Given the description of an element on the screen output the (x, y) to click on. 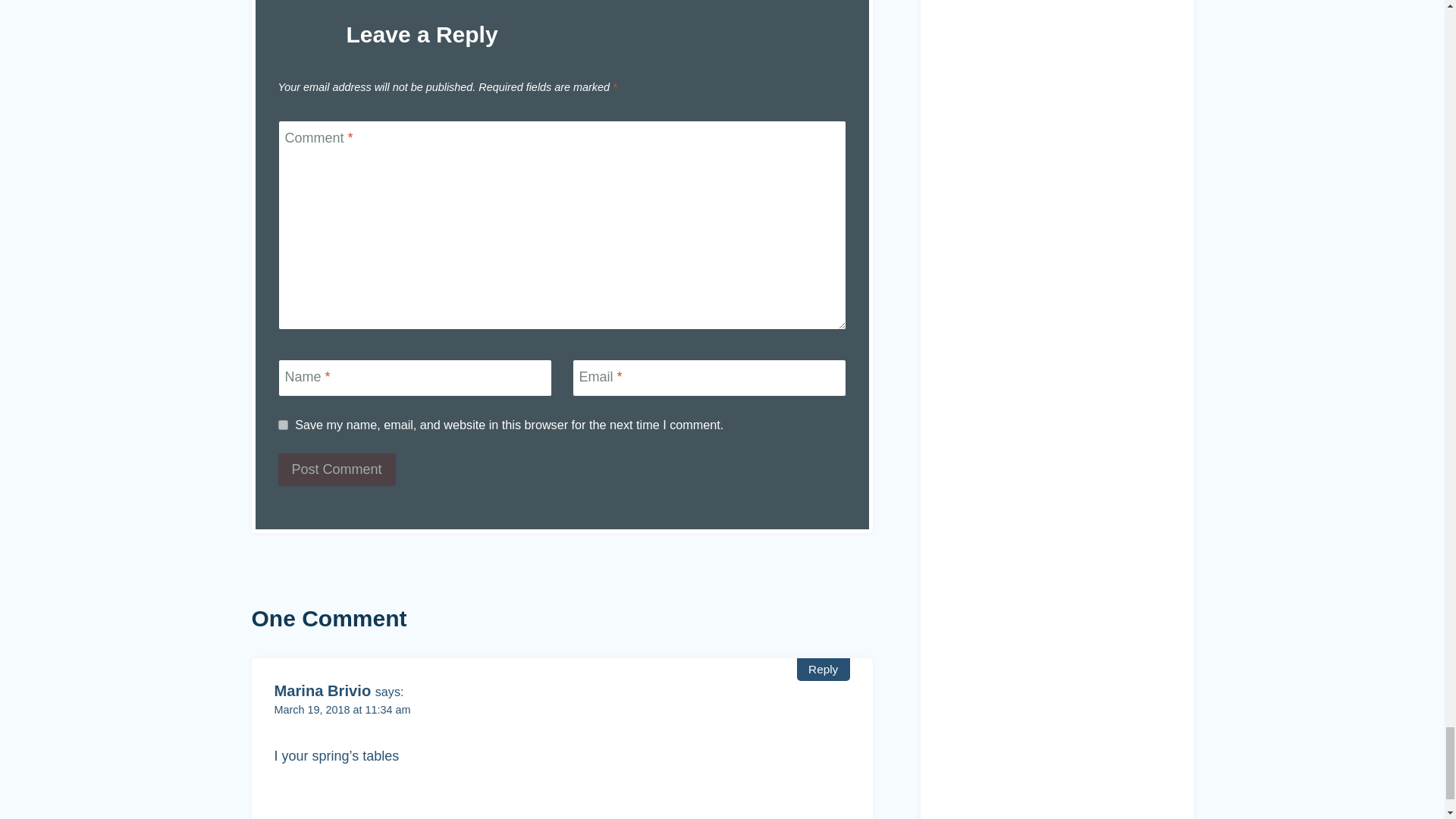
yes (282, 424)
Post Comment (336, 469)
